Given the description of an element on the screen output the (x, y) to click on. 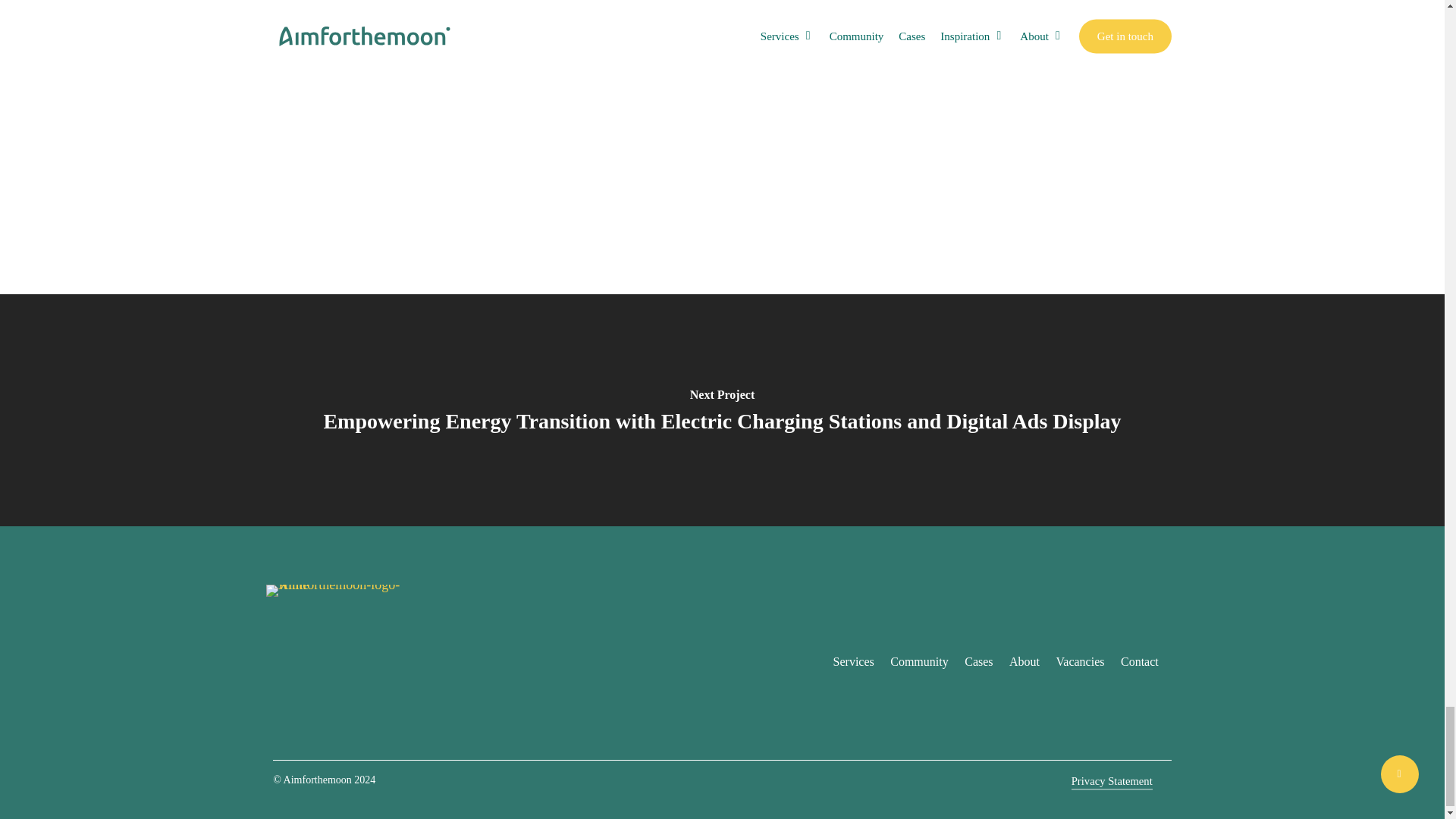
Contact (1139, 661)
Privacy Statement (1112, 781)
Vacancies (1081, 661)
About (1024, 661)
Community (918, 661)
Services (853, 661)
Cases (977, 661)
